Given the description of an element on the screen output the (x, y) to click on. 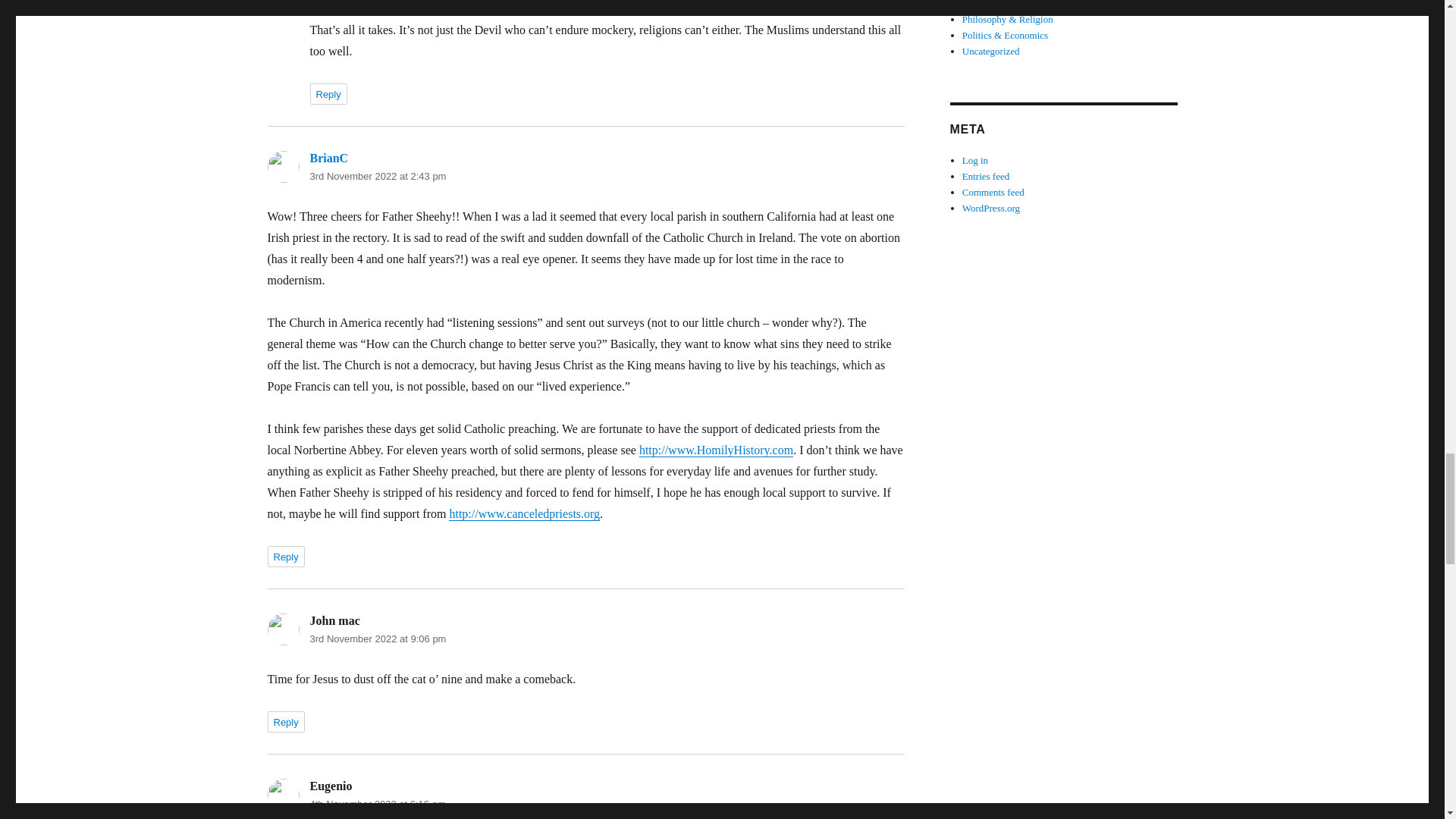
BrianC (327, 157)
Reply (285, 556)
Reply (327, 93)
3rd November 2022 at 9:06 pm (376, 638)
3rd November 2022 at 2:43 pm (376, 175)
